Given the description of an element on the screen output the (x, y) to click on. 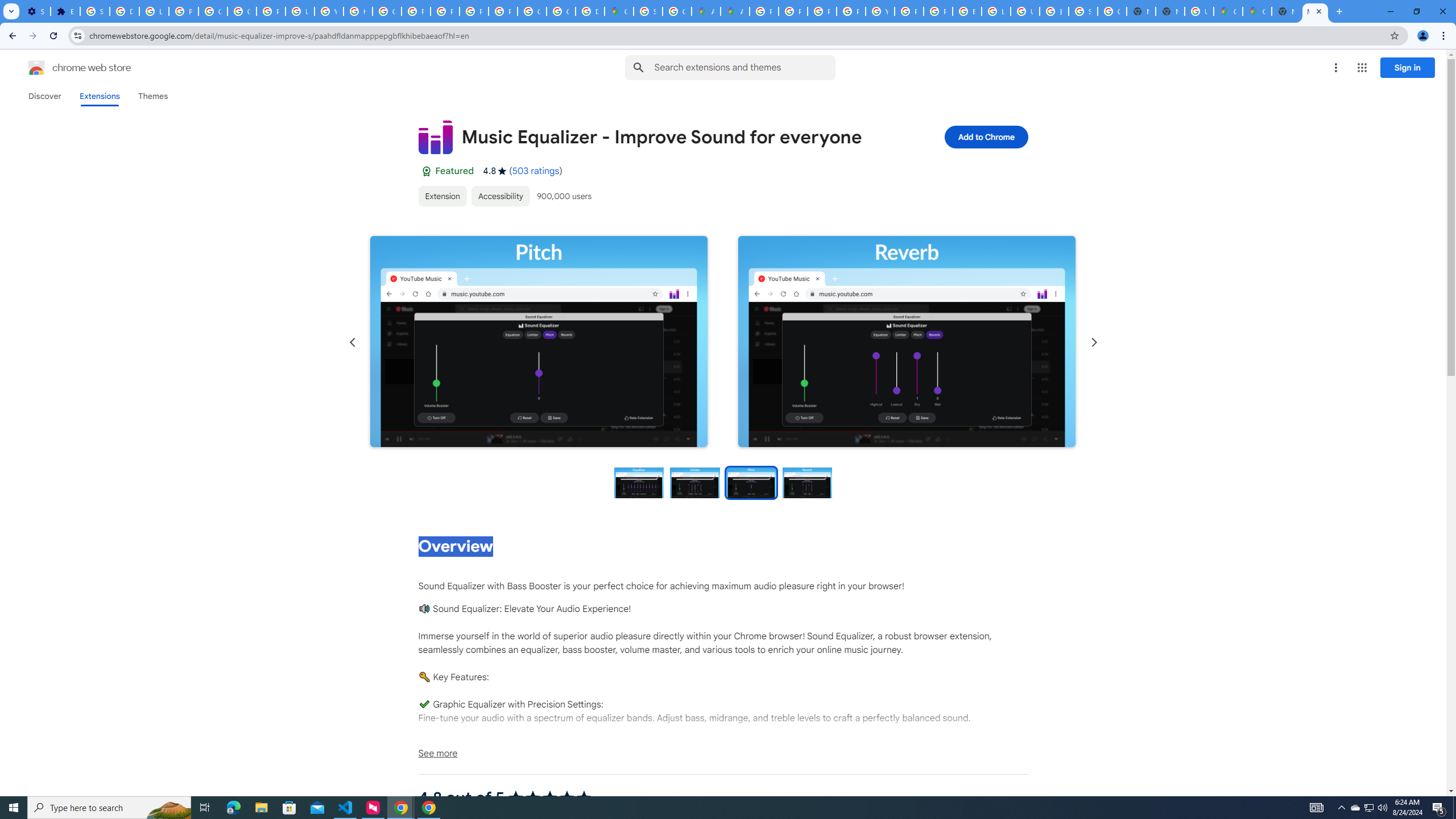
Previous slide (352, 342)
Item media 4 screenshot (906, 342)
https://scholar.google.com/ (357, 11)
Preview slide 3 (751, 482)
YouTube (327, 11)
